Given the description of an element on the screen output the (x, y) to click on. 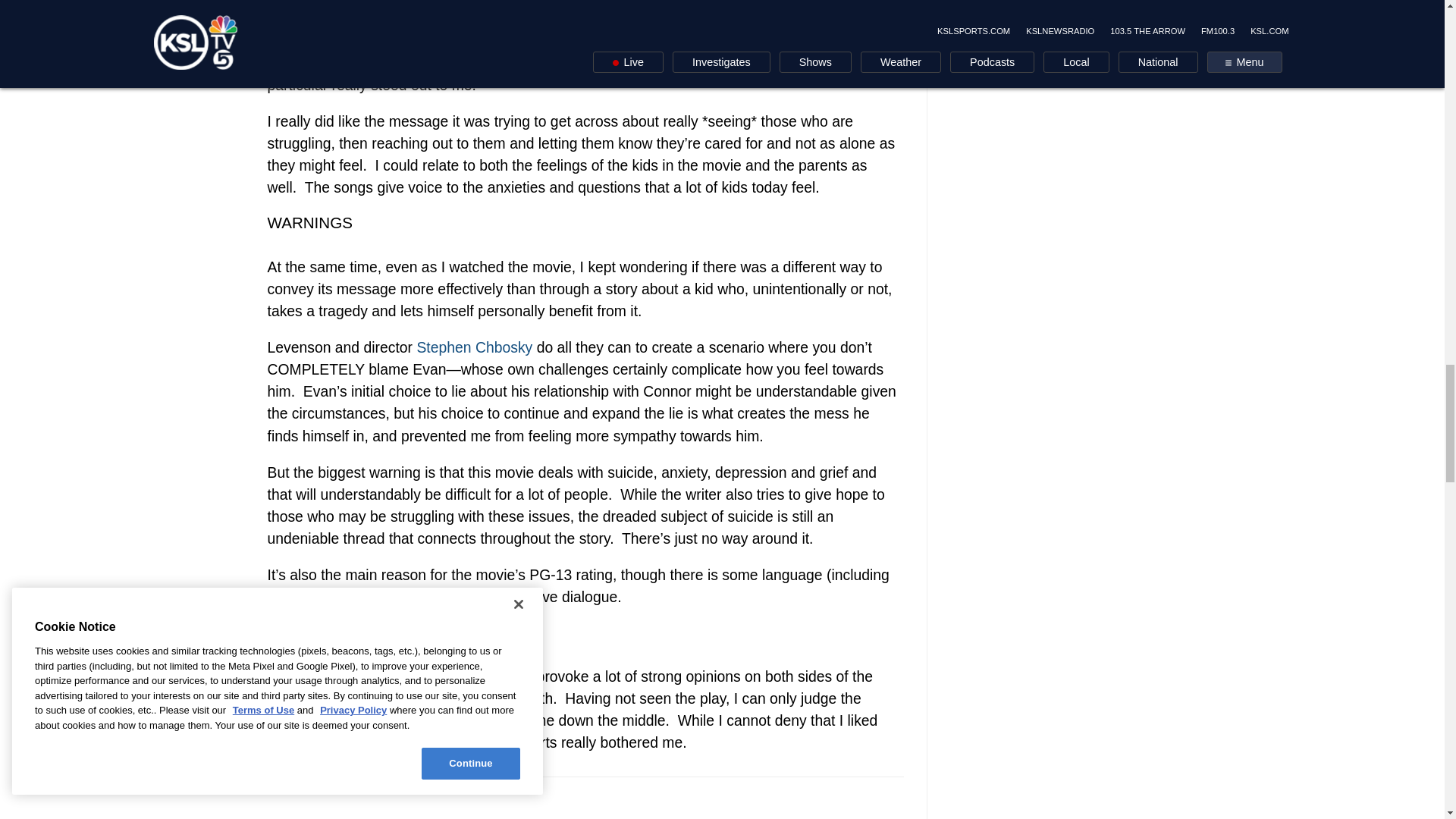
3rd party ad content (584, 2)
